Given the description of an element on the screen output the (x, y) to click on. 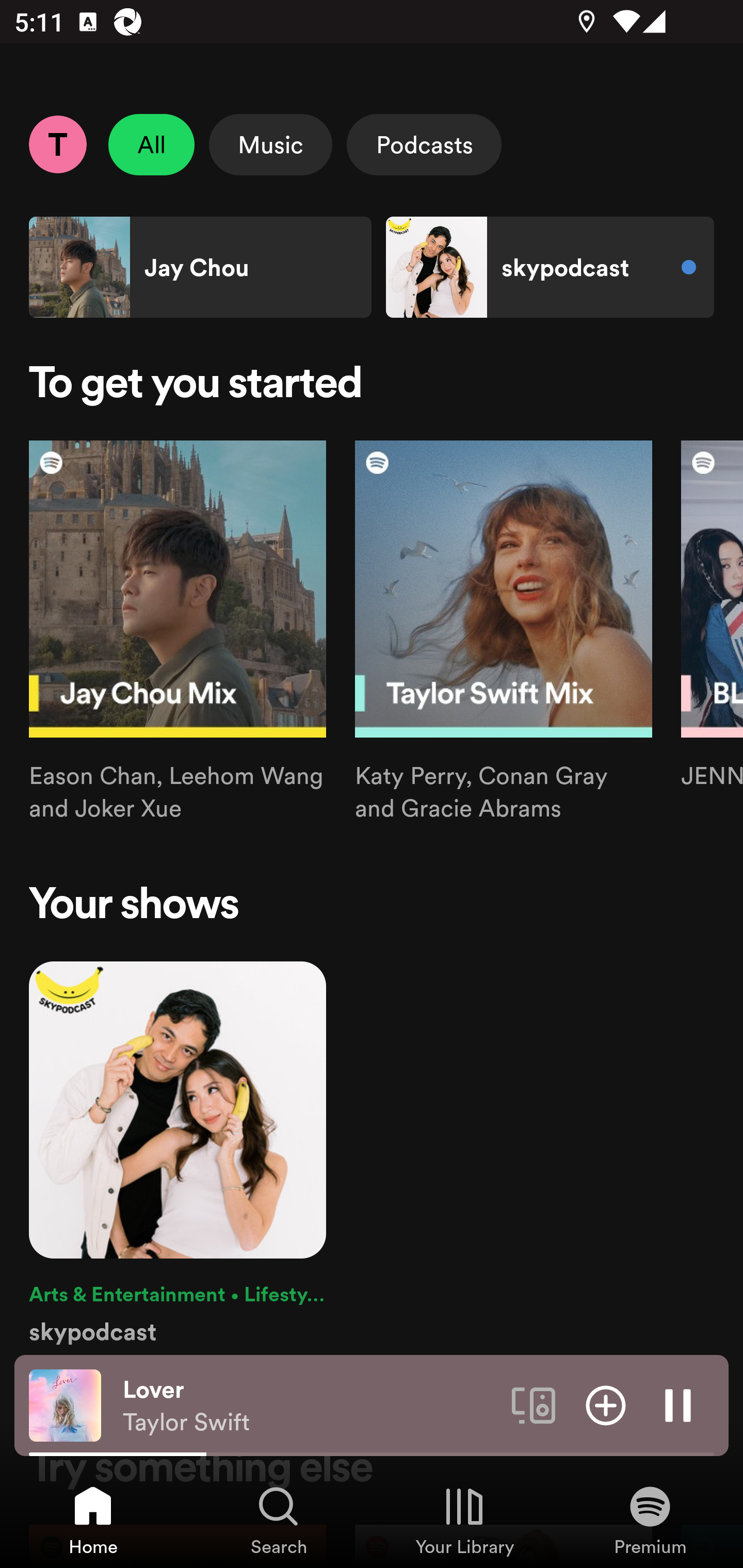
Profile (57, 144)
All Unselect All (151, 144)
Music Select Music (270, 144)
Podcasts Select Podcasts (423, 144)
Jay Chou Shortcut Jay Chou (199, 267)
skypodcast Shortcut skypodcast New content (549, 267)
Lover Taylor Swift (309, 1405)
The cover art of the currently playing track (64, 1404)
Connect to a device. Opens the devices menu (533, 1404)
Add item (605, 1404)
Pause (677, 1404)
Home, Tab 1 of 4 Home Home (92, 1519)
Search, Tab 2 of 4 Search Search (278, 1519)
Your Library, Tab 3 of 4 Your Library Your Library (464, 1519)
Premium, Tab 4 of 4 Premium Premium (650, 1519)
